Given the description of an element on the screen output the (x, y) to click on. 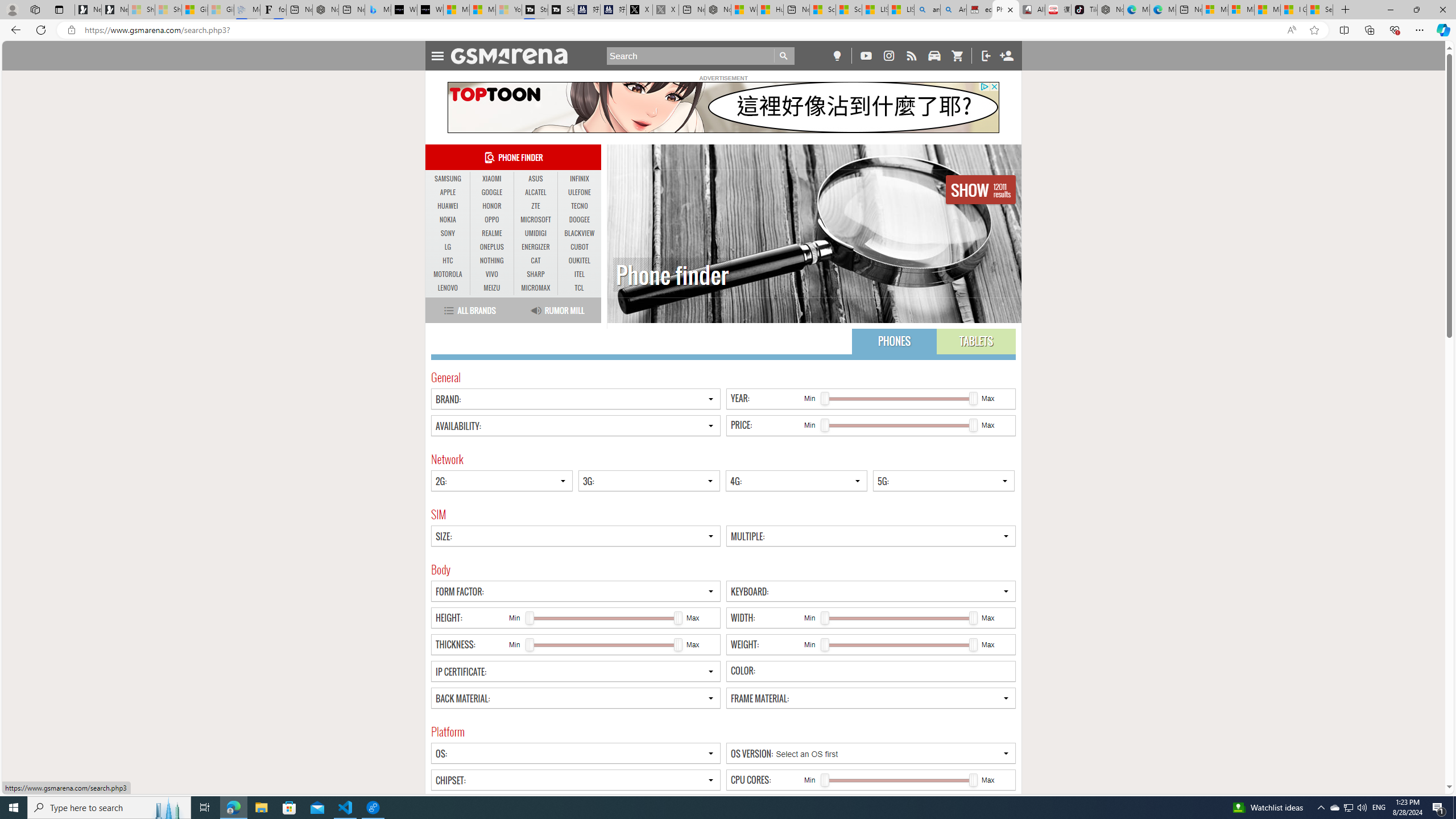
CUBOT (579, 246)
BLACKVIEW (579, 233)
Amazon Echo Dot PNG - Search Images (953, 9)
ALCATEL (535, 192)
Go (784, 55)
MOTOROLA (448, 273)
REALME (491, 233)
To get missing image descriptions, open the context menu. (722, 106)
OPPO (491, 219)
PHONES (893, 341)
